Given the description of an element on the screen output the (x, y) to click on. 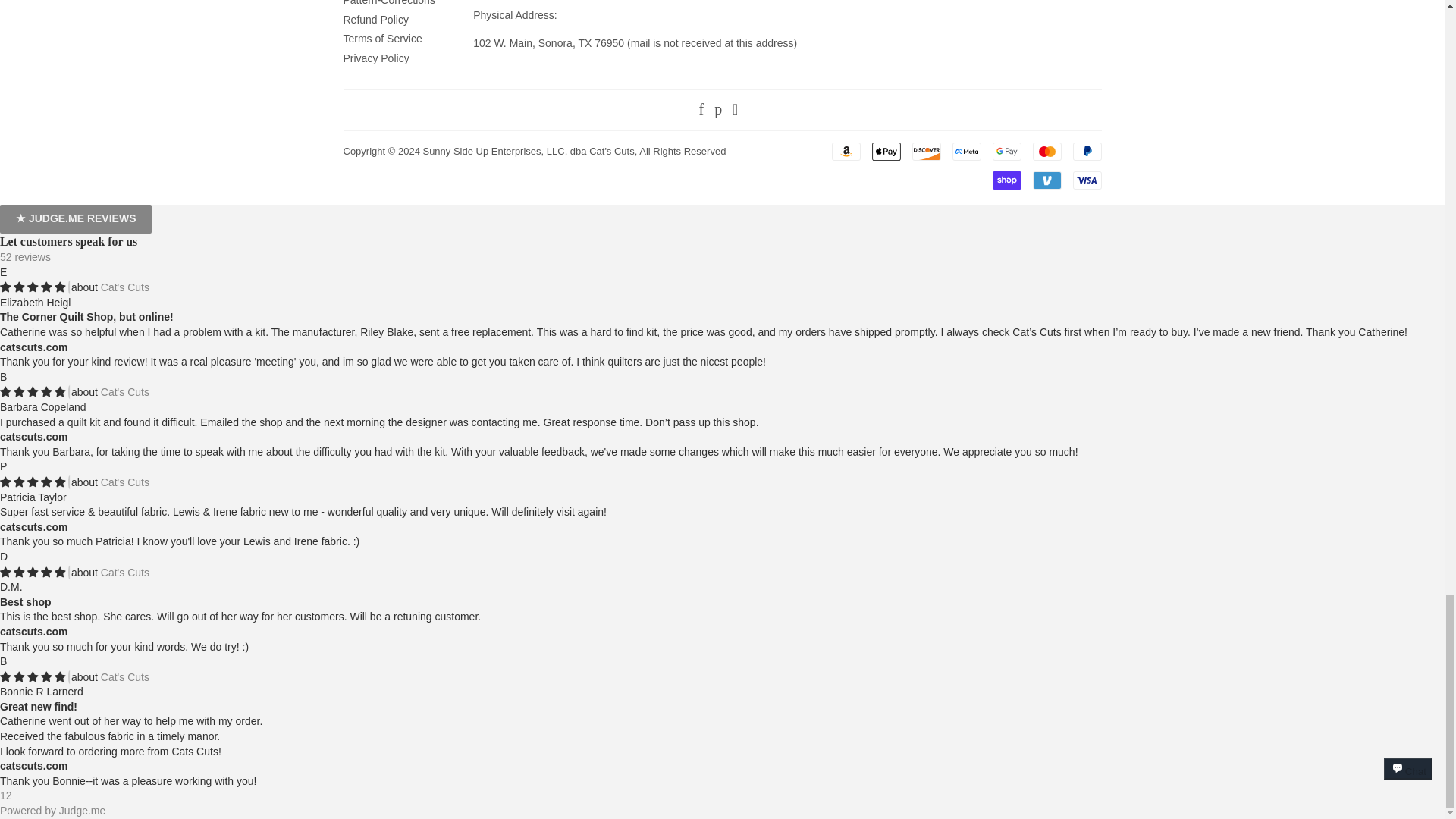
Meta Pay (966, 151)
Google Pay (1005, 151)
Visa (1085, 180)
Apple Pay (886, 151)
Shop Pay (1005, 180)
Venmo (1046, 180)
Mastercard (1046, 151)
Amazon (845, 151)
PayPal (1085, 151)
Discover (925, 151)
